Given the description of an element on the screen output the (x, y) to click on. 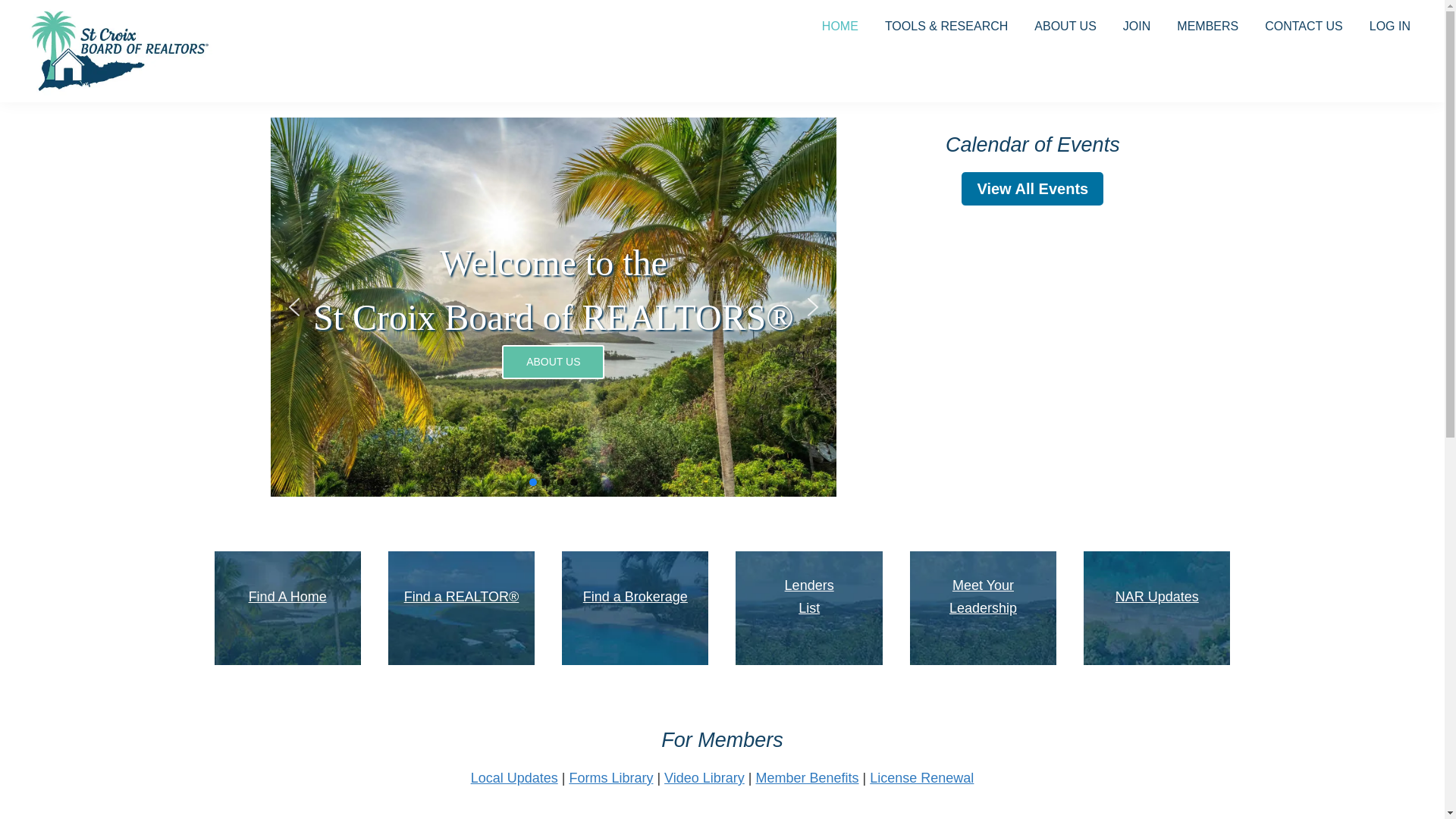
MEMBERS (1207, 26)
ABOUT US (553, 360)
CONTACT US (1303, 26)
ABOUT US (1065, 26)
LOG IN (1390, 26)
HOME (839, 26)
JOIN (1136, 26)
View All Events (1031, 188)
